Given the description of an element on the screen output the (x, y) to click on. 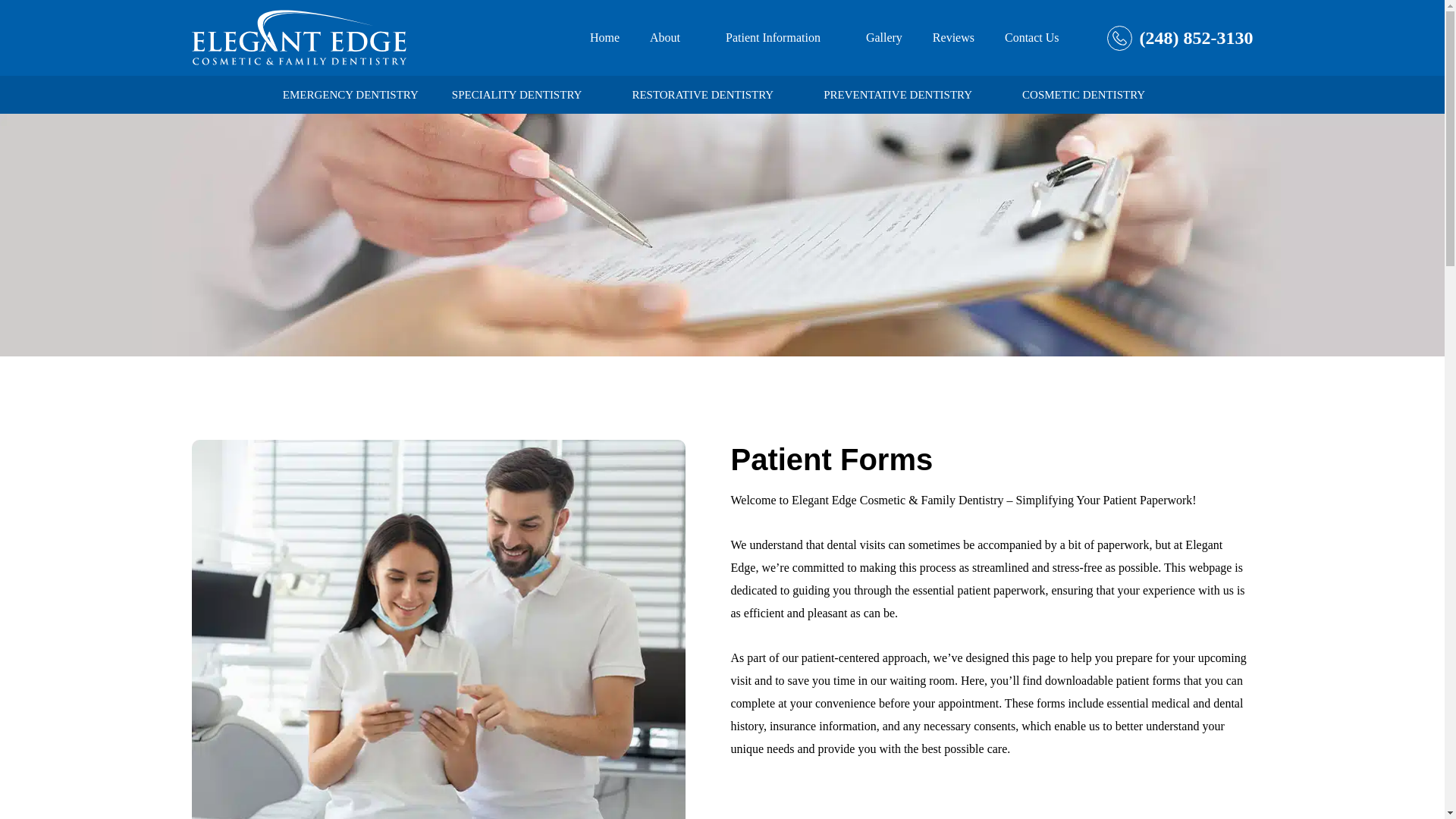
Contact Us (1031, 38)
Reviews (953, 38)
About (672, 38)
Gallery (884, 38)
Home (604, 38)
Patient Information (780, 38)
